Given the description of an element on the screen output the (x, y) to click on. 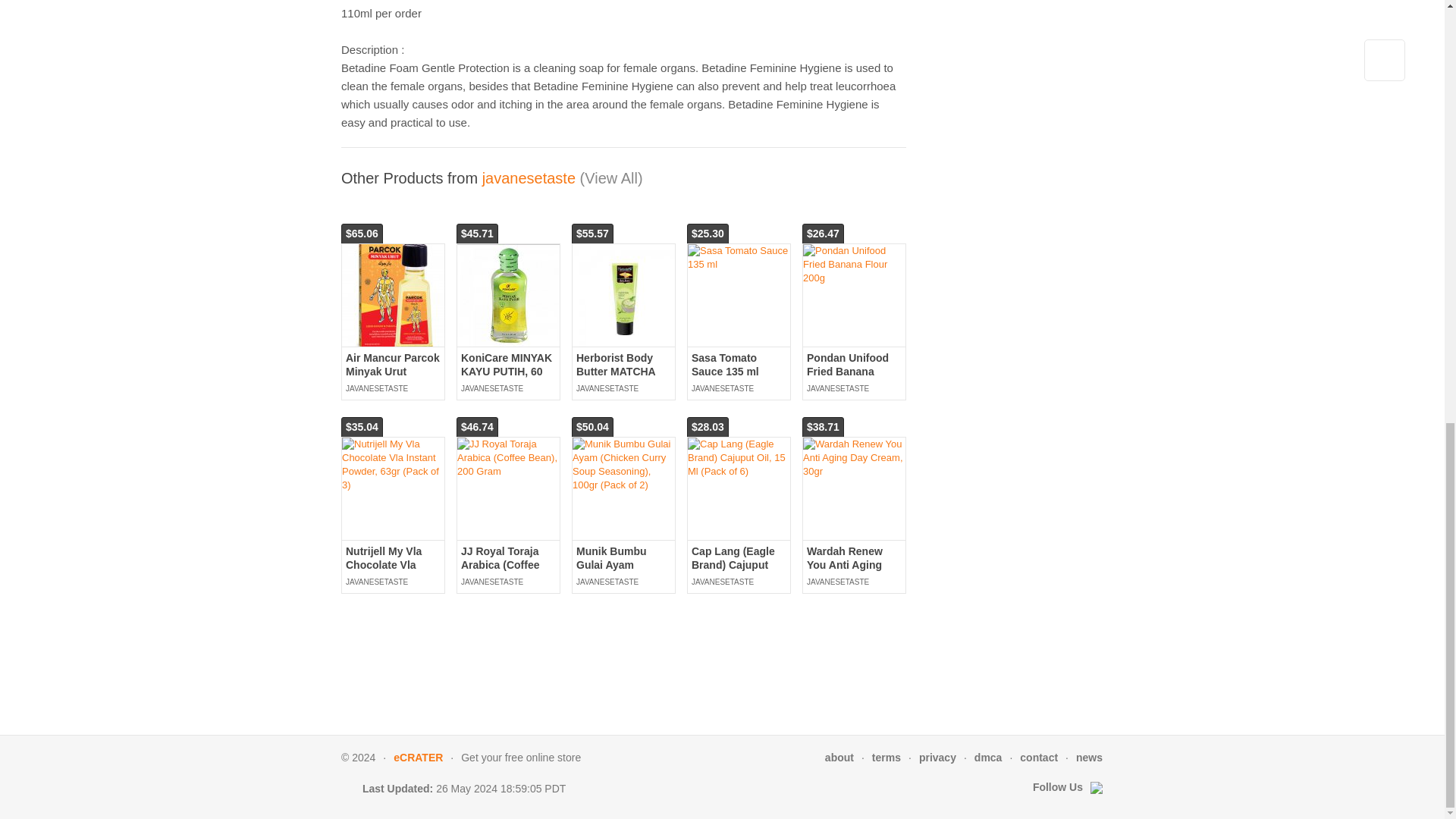
Pondan Unifood Fried Banana Flour 200g (854, 264)
Pondan Unifood Fried Banana Flour 200g (847, 371)
Sasa Tomato Sauce 135 ml (738, 257)
Sasa Tomato Sauce 135 ml (724, 364)
